Given the description of an element on the screen output the (x, y) to click on. 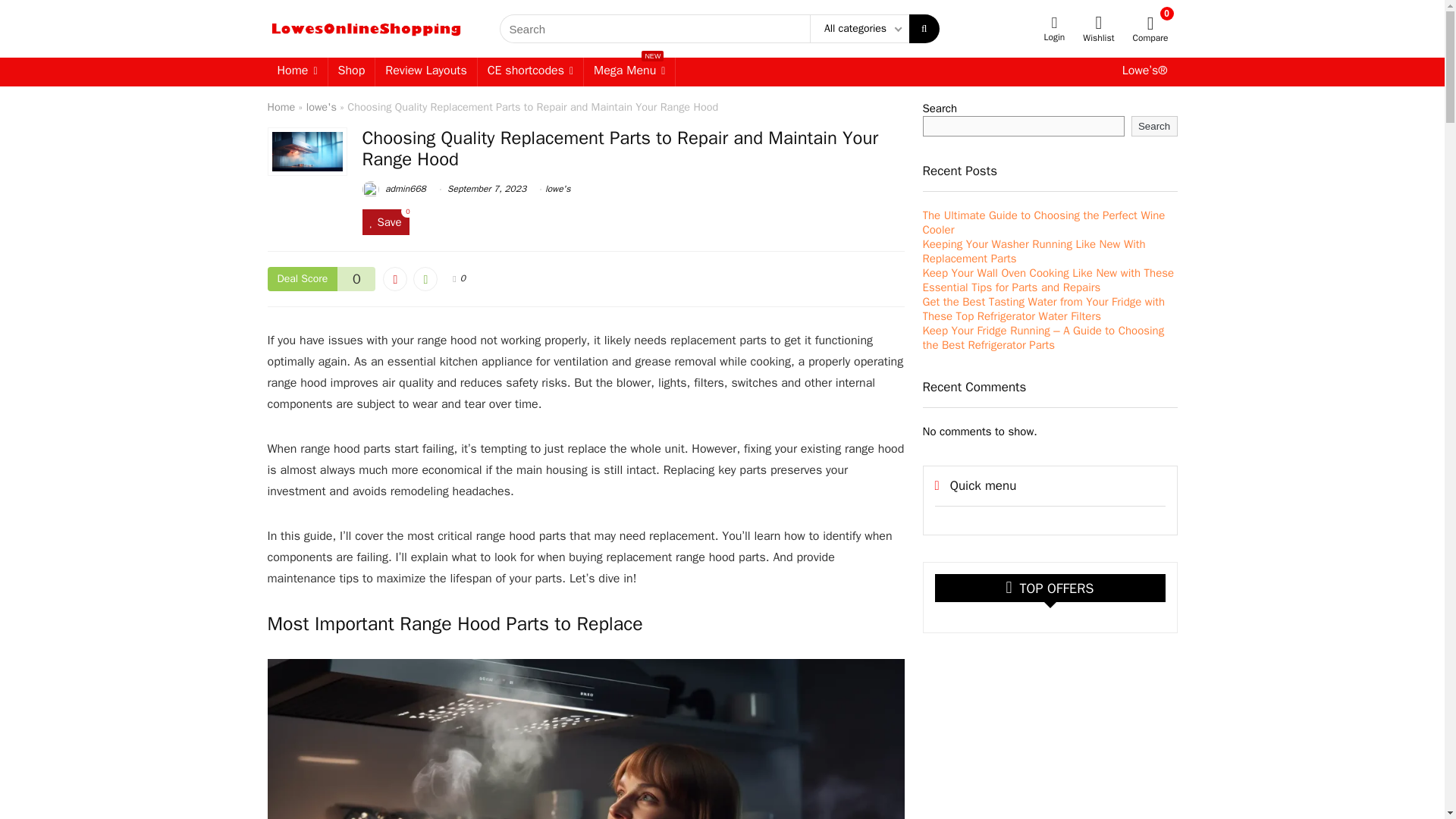
Search (1154, 126)
lowe's (557, 188)
CE shortcodes (629, 71)
admin668 (530, 71)
Home (394, 188)
View all posts in lowe's (280, 106)
lowe's (557, 188)
Review Layouts (320, 106)
Vote up (425, 71)
Vote down (425, 278)
Shop (394, 278)
Home (352, 71)
